Given the description of an element on the screen output the (x, y) to click on. 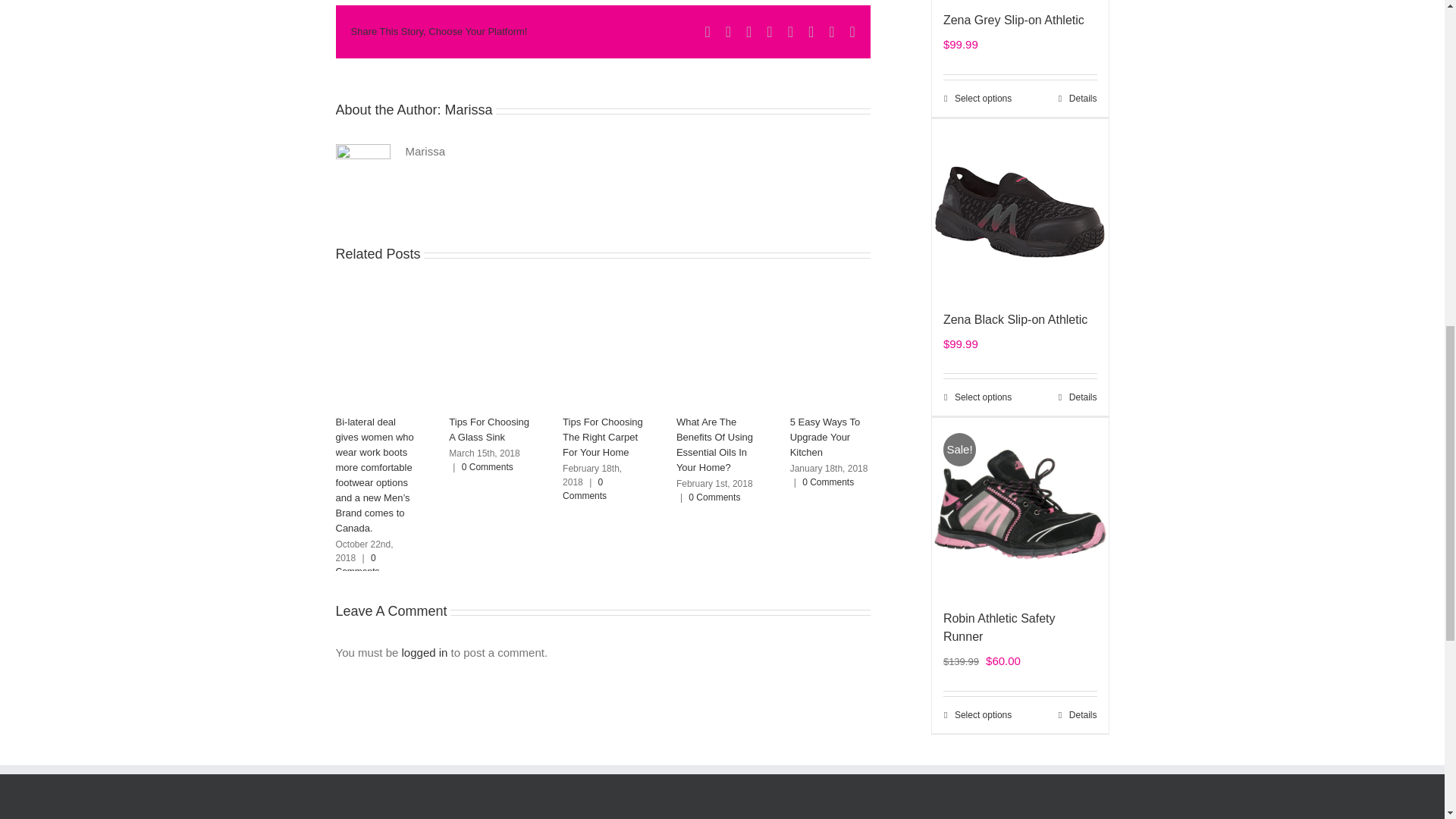
Posts by Marissa (469, 109)
